Given the description of an element on the screen output the (x, y) to click on. 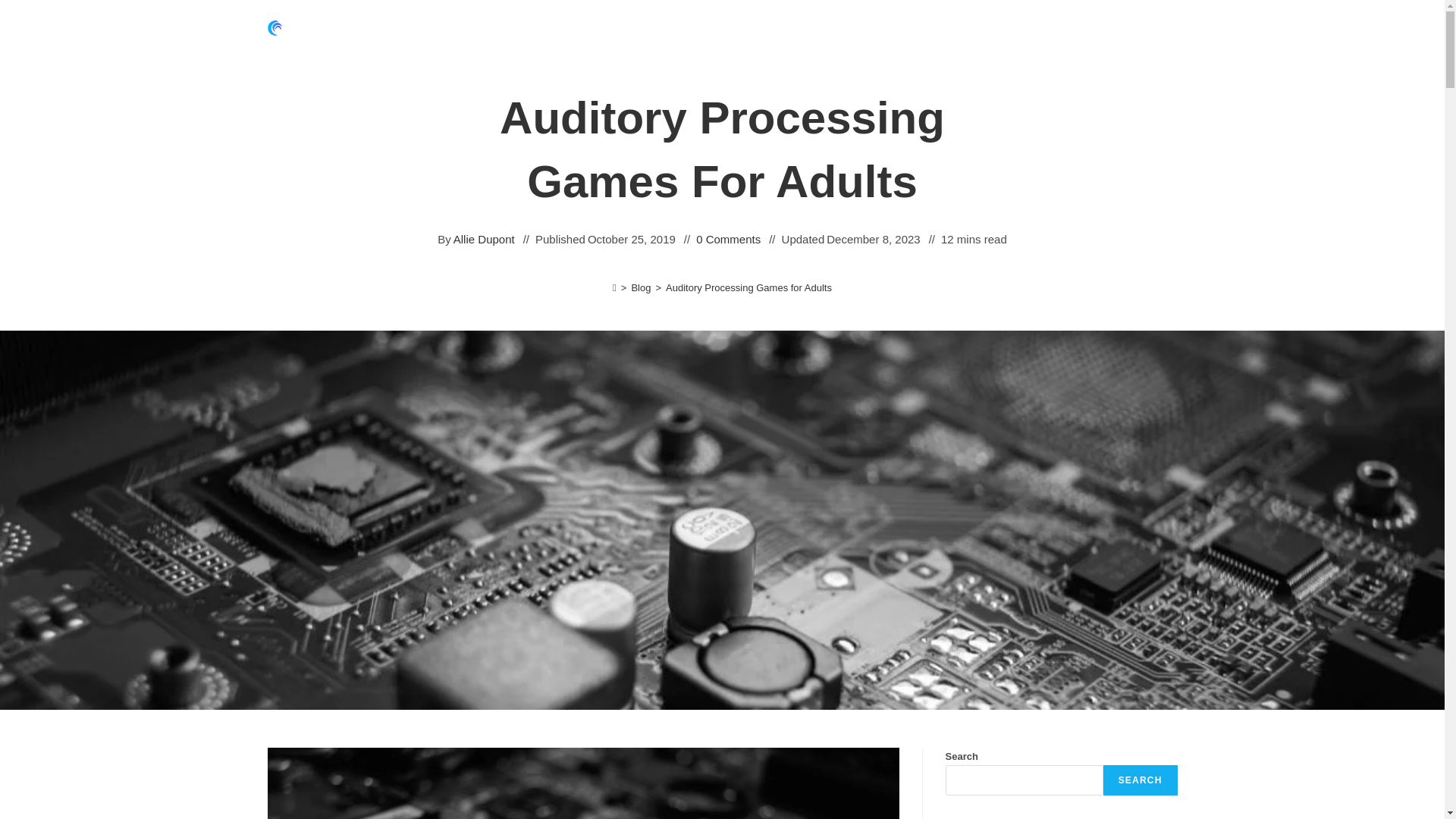
Blog (640, 287)
SEARCH (1140, 779)
Allie Dupont (483, 239)
Auditory Processing Games for Adults (748, 287)
0 Comments (727, 239)
